Given the description of an element on the screen output the (x, y) to click on. 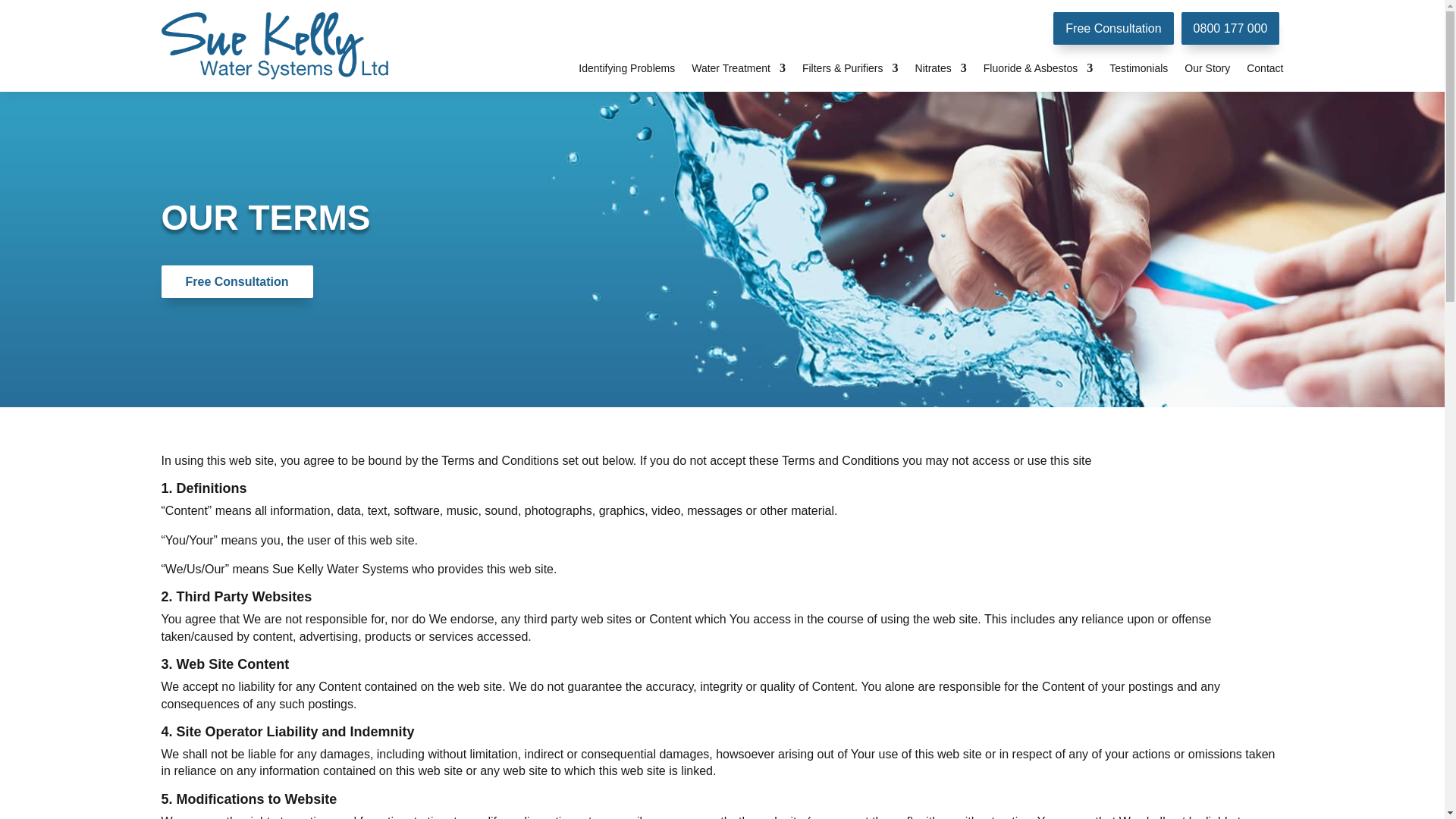
Free Consultation (1112, 28)
Contact (1264, 71)
Nitrates (940, 71)
Testimonials (626, 71)
Our Story (1138, 71)
0800 177 000 (1207, 71)
Water Treatment (1229, 28)
